Given the description of an element on the screen output the (x, y) to click on. 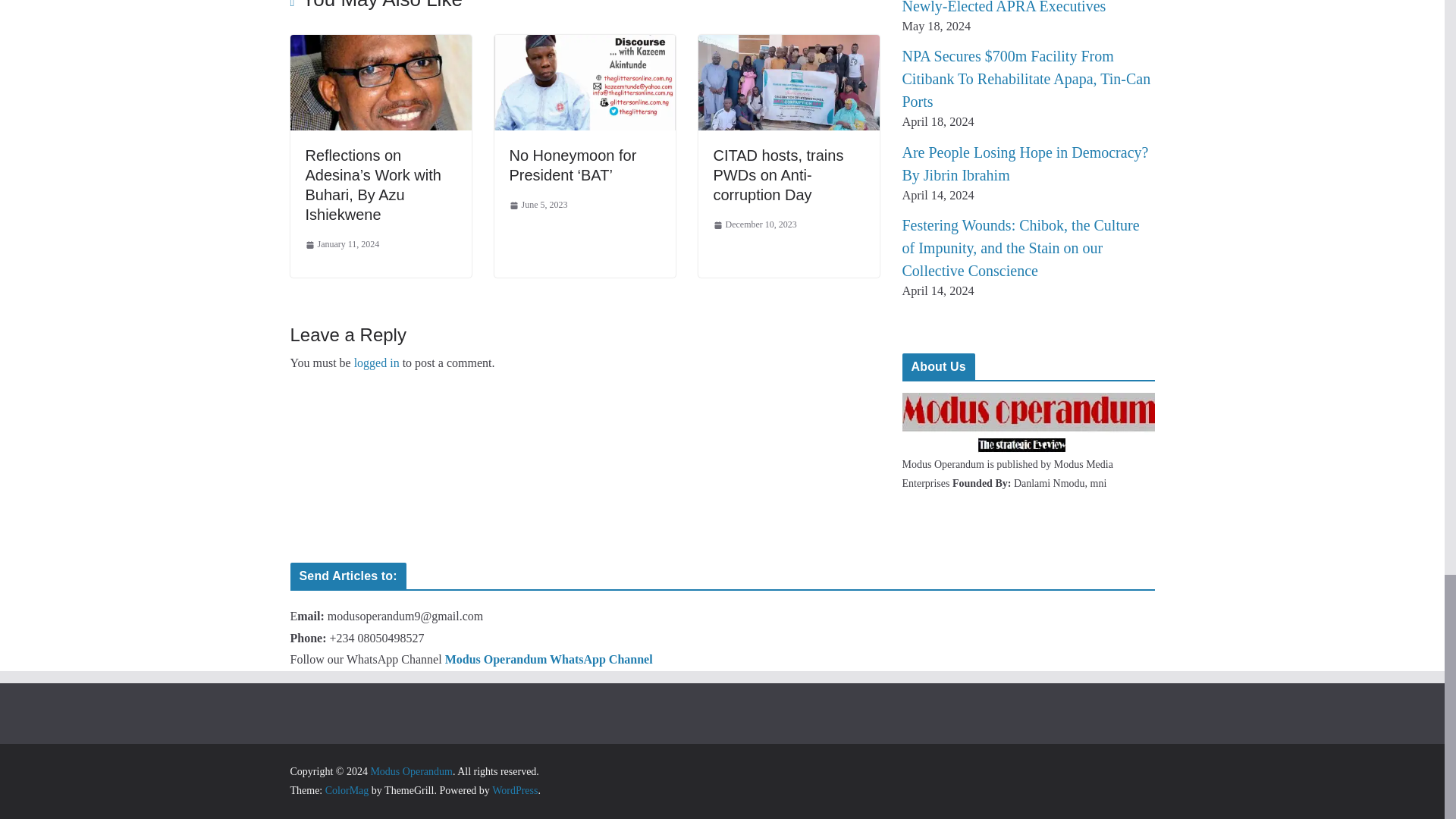
June 5, 2023 (538, 205)
January 11, 2024 (341, 244)
CITAD hosts, trains PWDs on Anti-corruption Day (778, 175)
December 10, 2023 (754, 225)
